Given the description of an element on the screen output the (x, y) to click on. 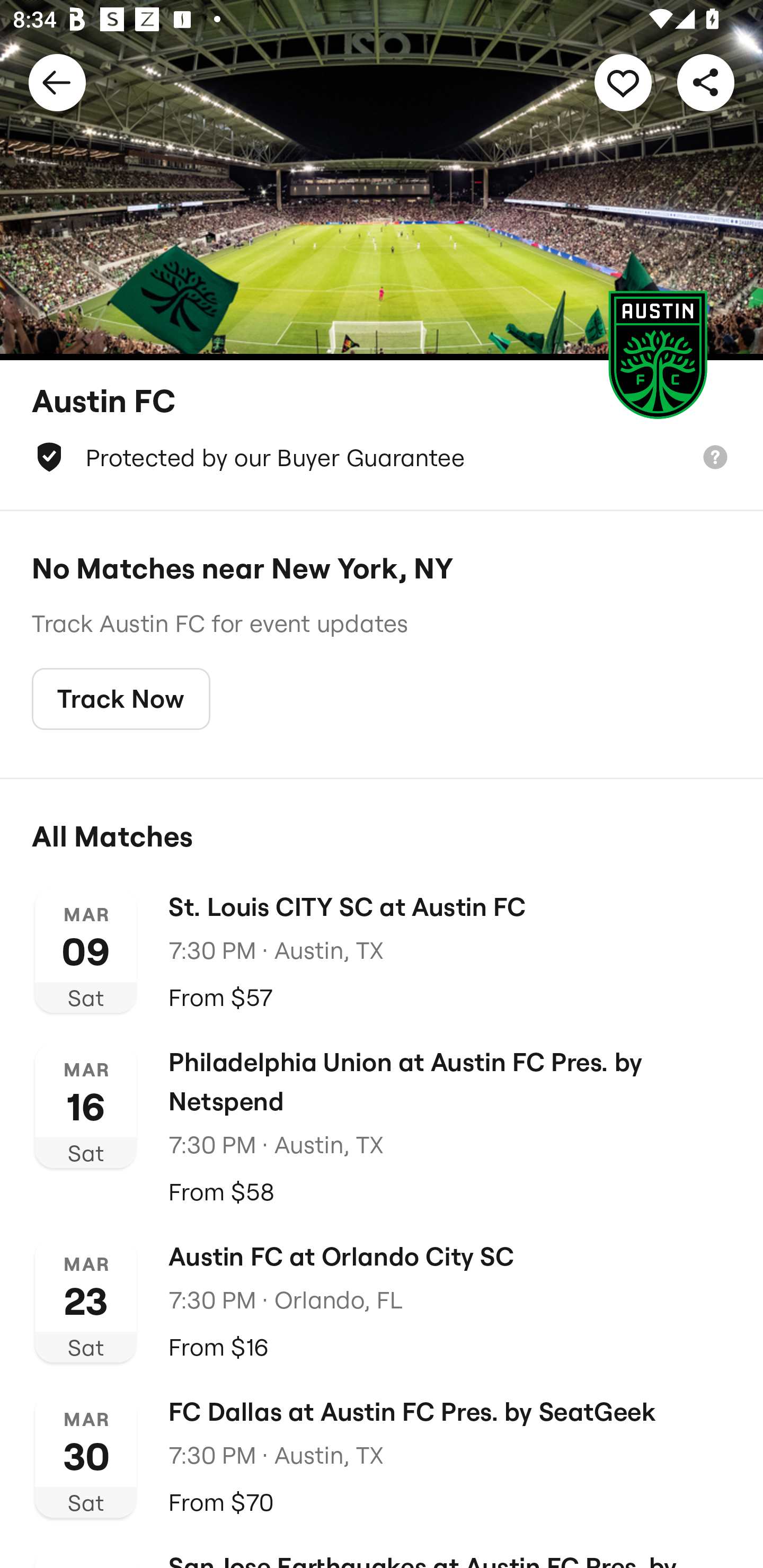
Back (57, 81)
Track this performer (623, 81)
Share this performer (705, 81)
Protected by our Buyer Guarantee Learn more (381, 456)
Track Now (121, 699)
